Given the description of an element on the screen output the (x, y) to click on. 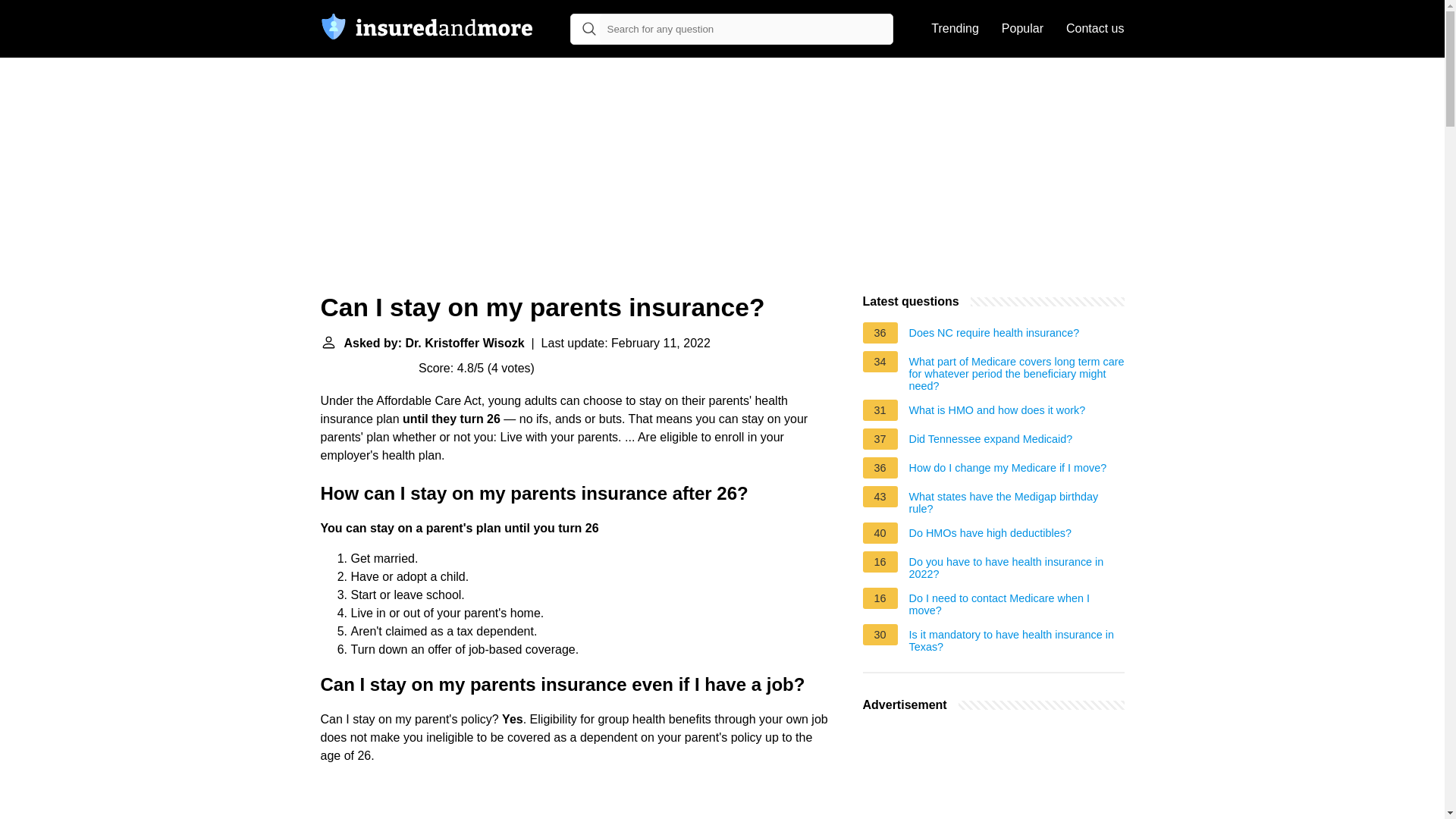
Contact us (1094, 28)
What is HMO and how does it work? (997, 412)
What states have the Medigap birthday rule? (1016, 502)
Do HMOs have high deductibles? (989, 535)
Does NC require health insurance? (994, 334)
Popular (1022, 28)
Do you have to have health insurance in 2022? (1016, 567)
How do I change my Medicare if I move? (1007, 469)
Did Tennessee expand Medicaid? (990, 441)
Trending (954, 28)
Is it mandatory to have health insurance in Texas? (1016, 640)
Do I need to contact Medicare when I move? (1016, 604)
